Given the description of an element on the screen output the (x, y) to click on. 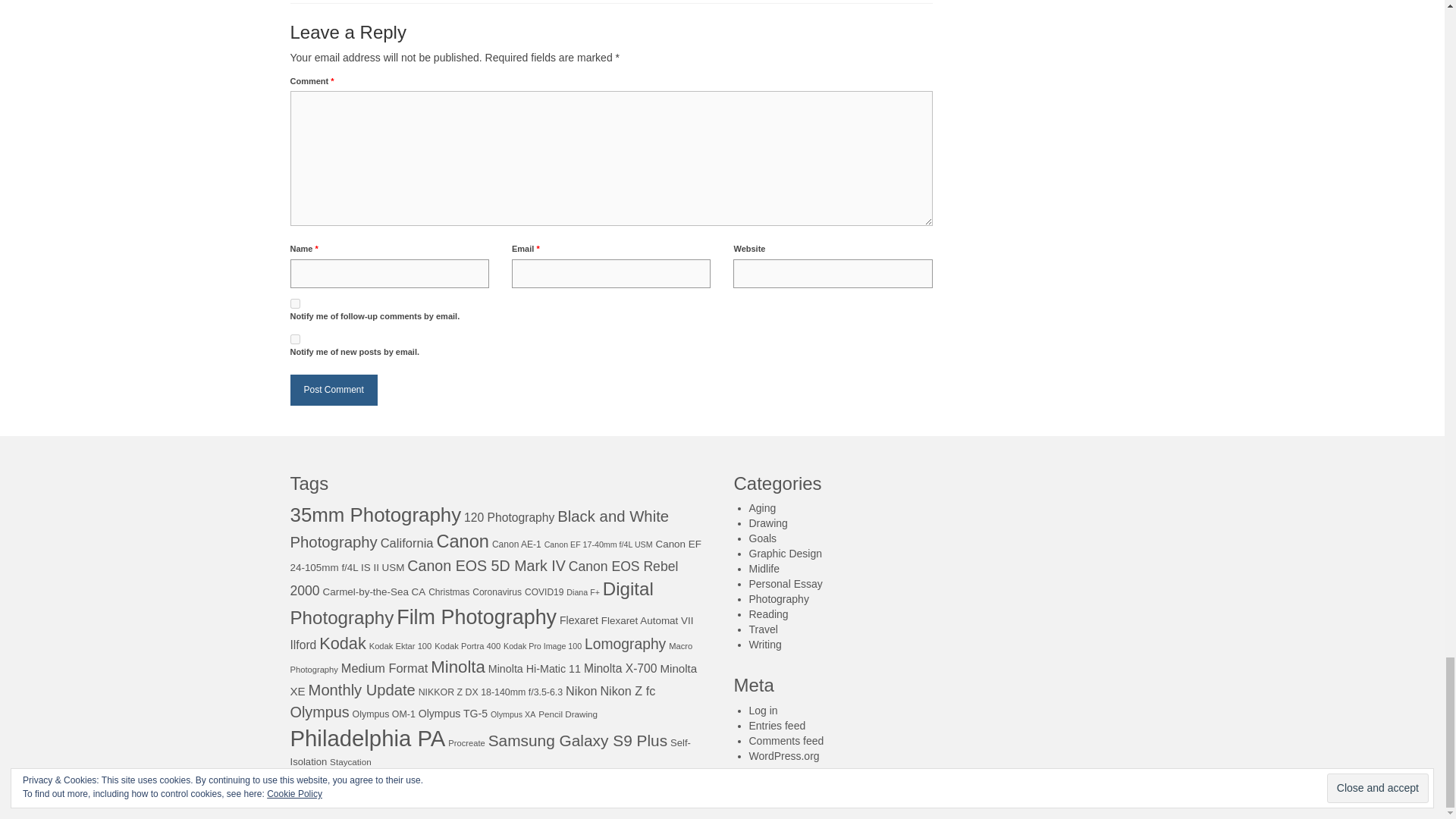
Post Comment (333, 389)
subscribe (294, 303)
subscribe (294, 338)
